Given the description of an element on the screen output the (x, y) to click on. 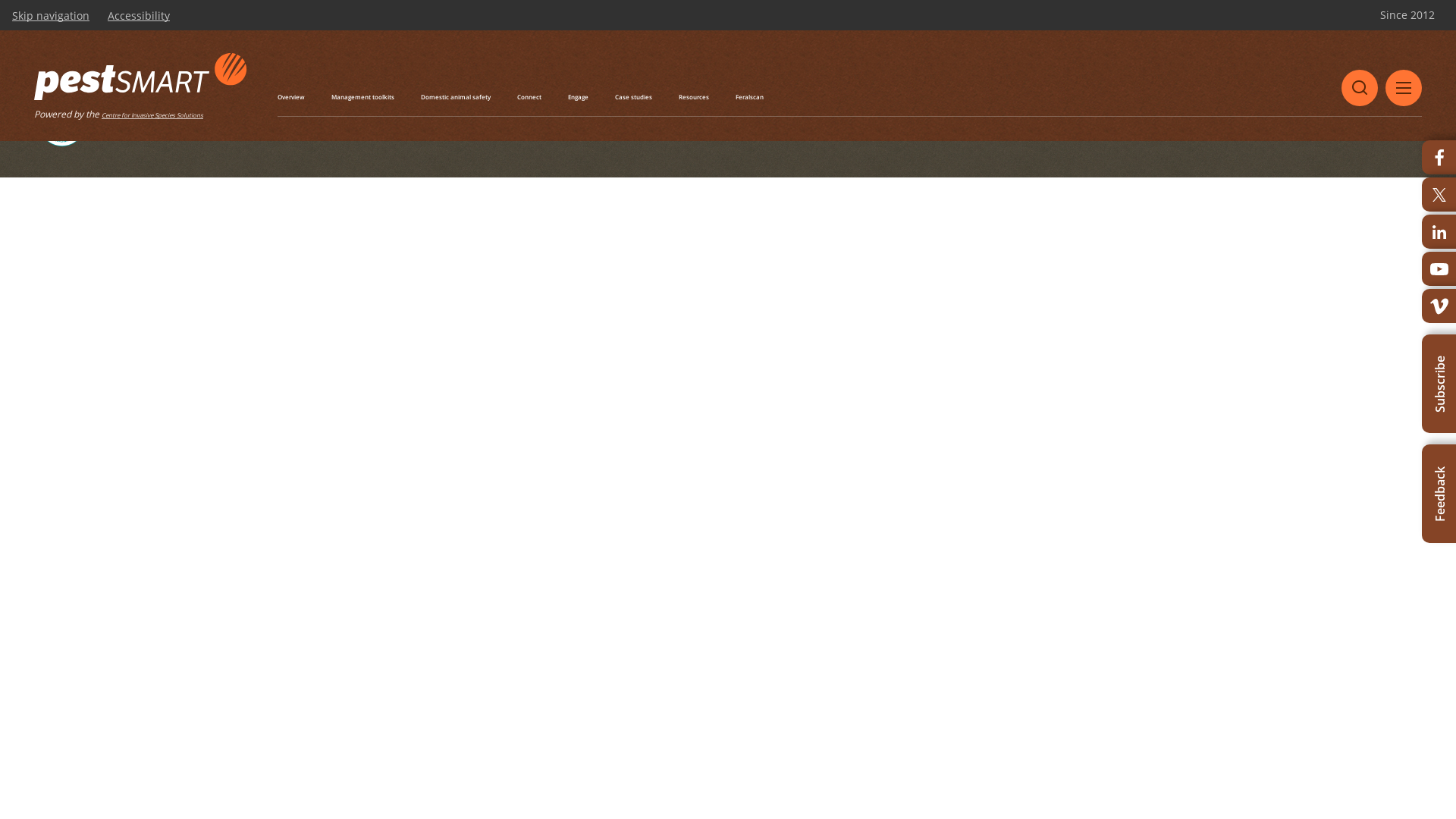
Resources Element type: text (693, 96)
Domestic animal safety Element type: text (455, 96)
Menu Element type: hover (1403, 87)
Case studies Element type: text (633, 96)
Centre for Invasive Species Solutions Element type: text (152, 114)
Overview Element type: text (290, 96)
Management toolkits Element type: text (362, 96)
Connect Element type: text (529, 96)
pestsmart@invasives.com.au Element type: text (463, 27)
Privacy and Disclaimer Element type: text (222, 120)
About this site Element type: text (134, 120)
Skip navigation Element type: text (50, 15)
Engage Element type: text (577, 96)
Sitemap Element type: text (297, 120)
Search PestSmart website Element type: hover (1359, 87)
Feralscan Element type: text (749, 96)
Accessibility Element type: text (138, 15)
